Given the description of an element on the screen output the (x, y) to click on. 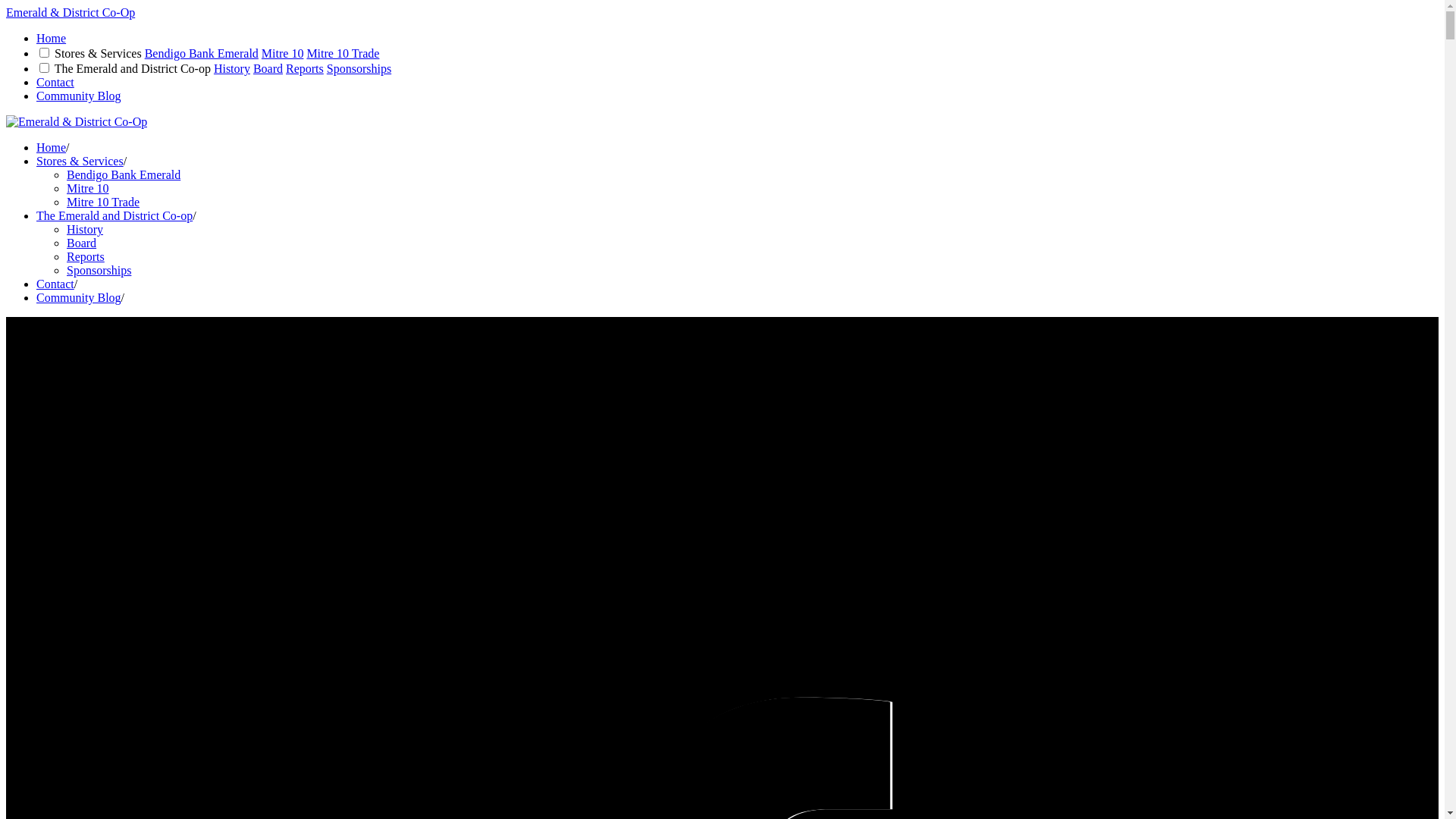
Reports Element type: text (304, 68)
Board Element type: text (81, 242)
Community Blog Element type: text (78, 95)
Emerald & District Co-Op Element type: text (70, 12)
Bendigo Bank Emerald Element type: text (201, 53)
Mitre 10 Trade Element type: text (342, 53)
Bendigo Bank Emerald Element type: text (123, 174)
Stores & Services Element type: text (79, 160)
Sponsorships Element type: text (358, 68)
Board Element type: text (267, 68)
Mitre 10 Trade Element type: text (102, 201)
Sponsorships Element type: text (98, 269)
Contact Element type: text (55, 81)
History Element type: text (84, 228)
History Element type: text (231, 68)
Reports Element type: text (85, 256)
Mitre 10 Element type: text (87, 188)
Contact Element type: text (55, 283)
The Emerald and District Co-op Element type: text (114, 215)
Home Element type: text (50, 147)
Community Blog Element type: text (78, 297)
Mitre 10 Element type: text (282, 53)
Home Element type: text (50, 37)
